Given the description of an element on the screen output the (x, y) to click on. 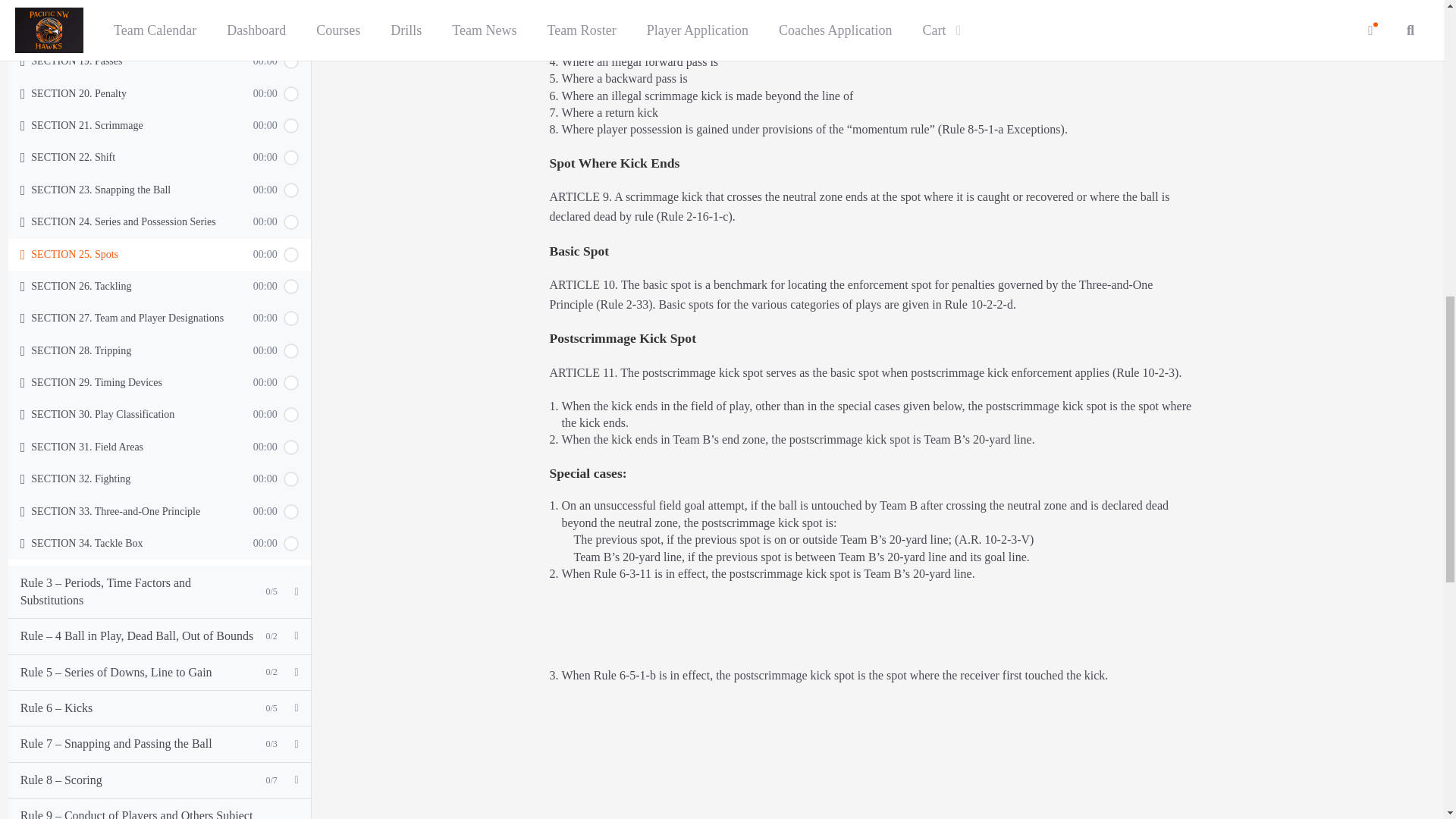
on (290, 2)
on (290, 61)
on (290, 29)
on (290, 93)
